Given the description of an element on the screen output the (x, y) to click on. 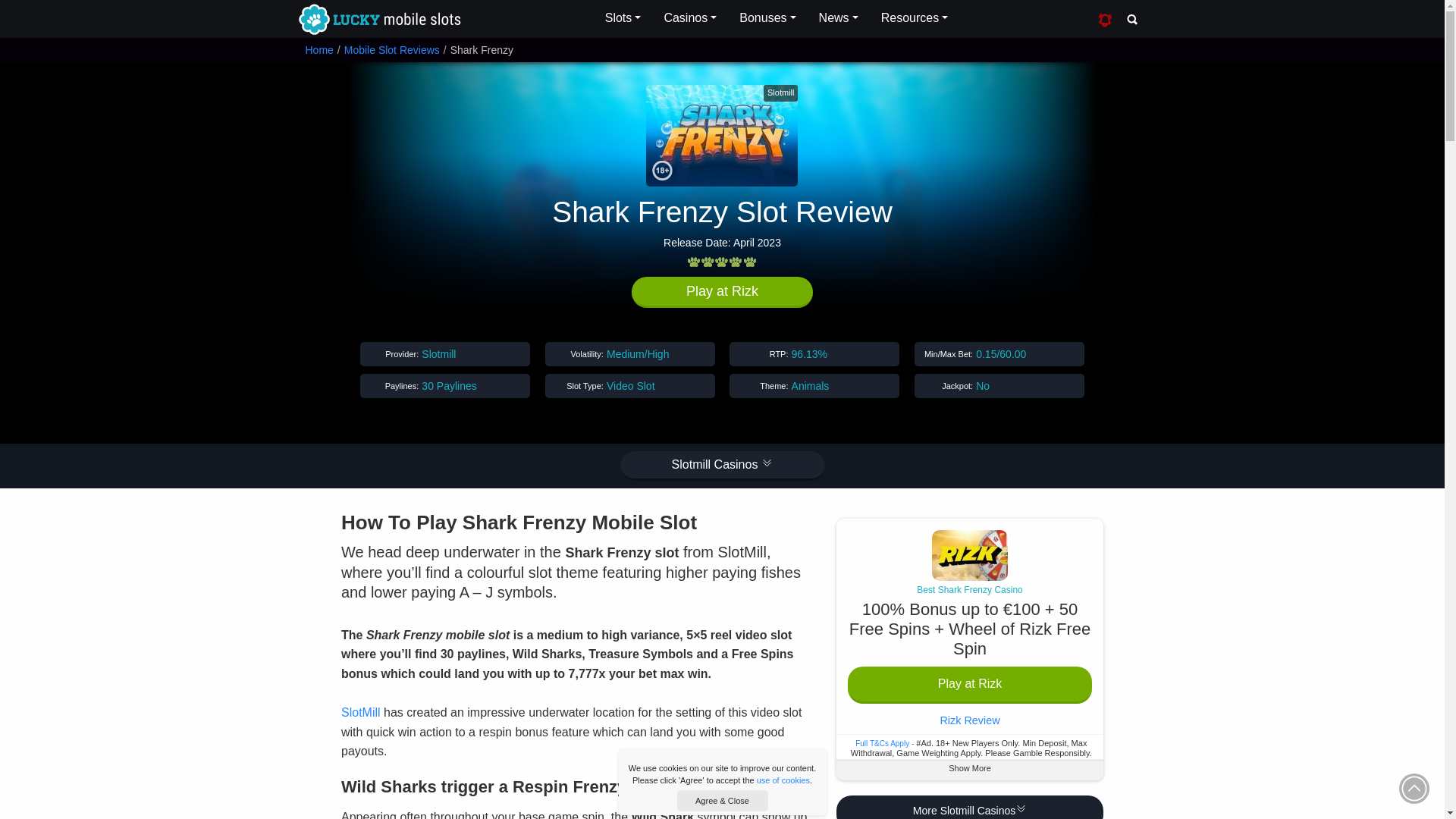
News (838, 18)
More Slotmill Casinos (969, 807)
Slots (623, 18)
Mobile Slot Reviews (391, 49)
Cookies Policy (783, 779)
Back to Top (1414, 788)
Lucky Mobile Slots (378, 20)
Home (318, 49)
Resources (914, 18)
Casinos (690, 18)
Slotmill Casinos (722, 465)
Bonuses (767, 18)
